Given the description of an element on the screen output the (x, y) to click on. 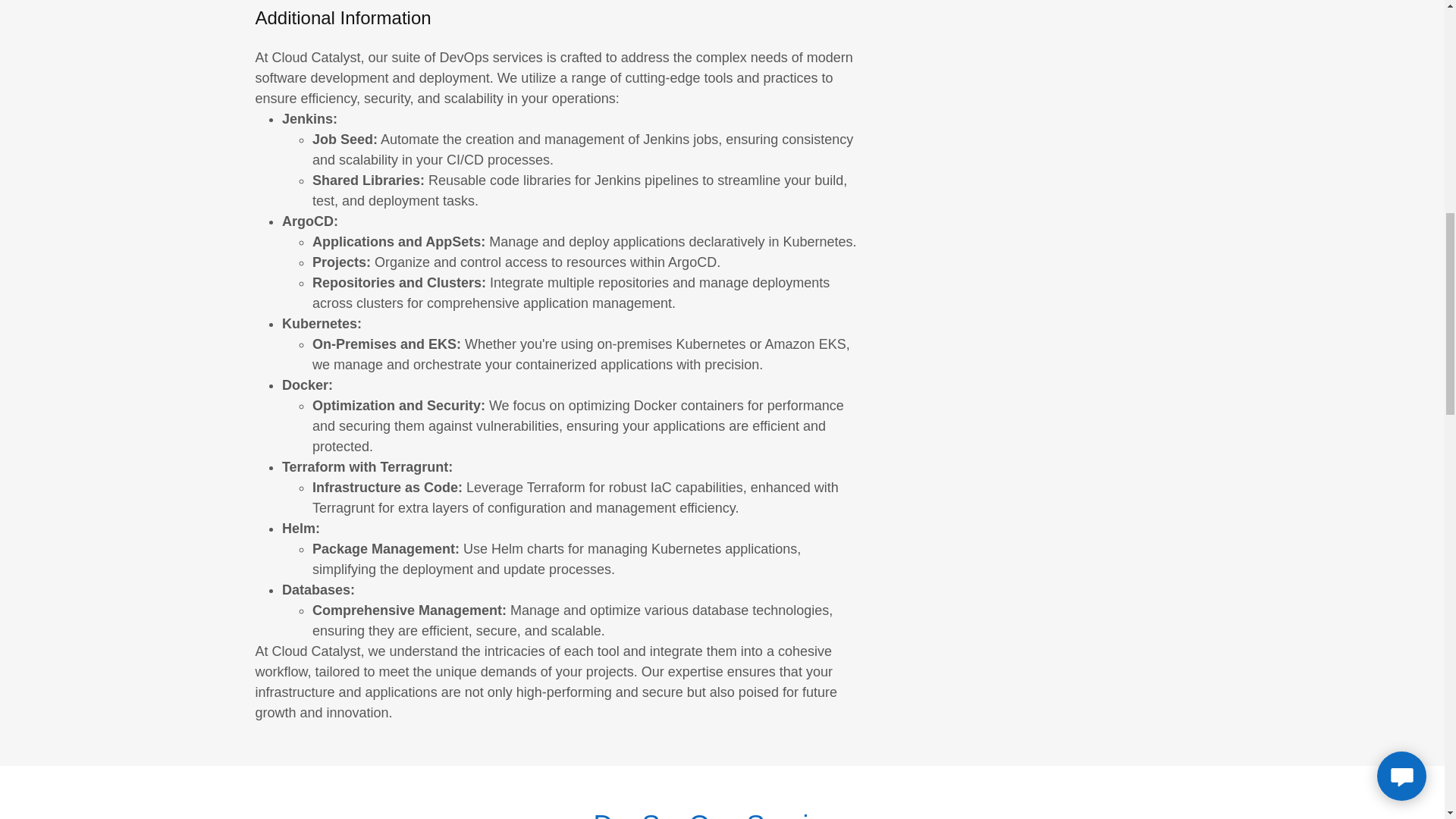
Accept (1274, 324)
